Given the description of an element on the screen output the (x, y) to click on. 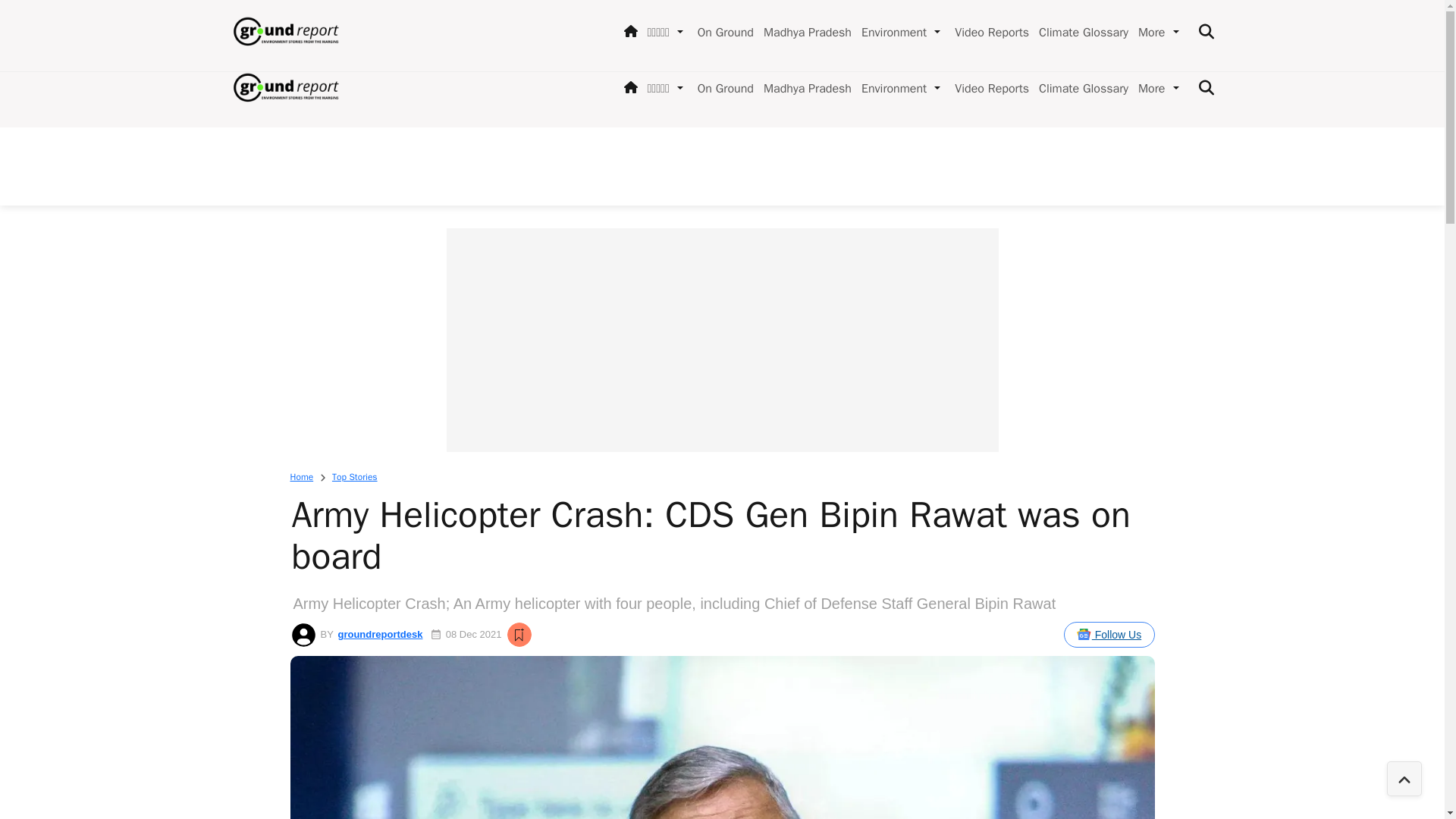
Video Reports (989, 88)
Madhya Pradesh (804, 88)
Environment (891, 88)
Climate Glossary (1080, 88)
On Ground (722, 88)
